Given the description of an element on the screen output the (x, y) to click on. 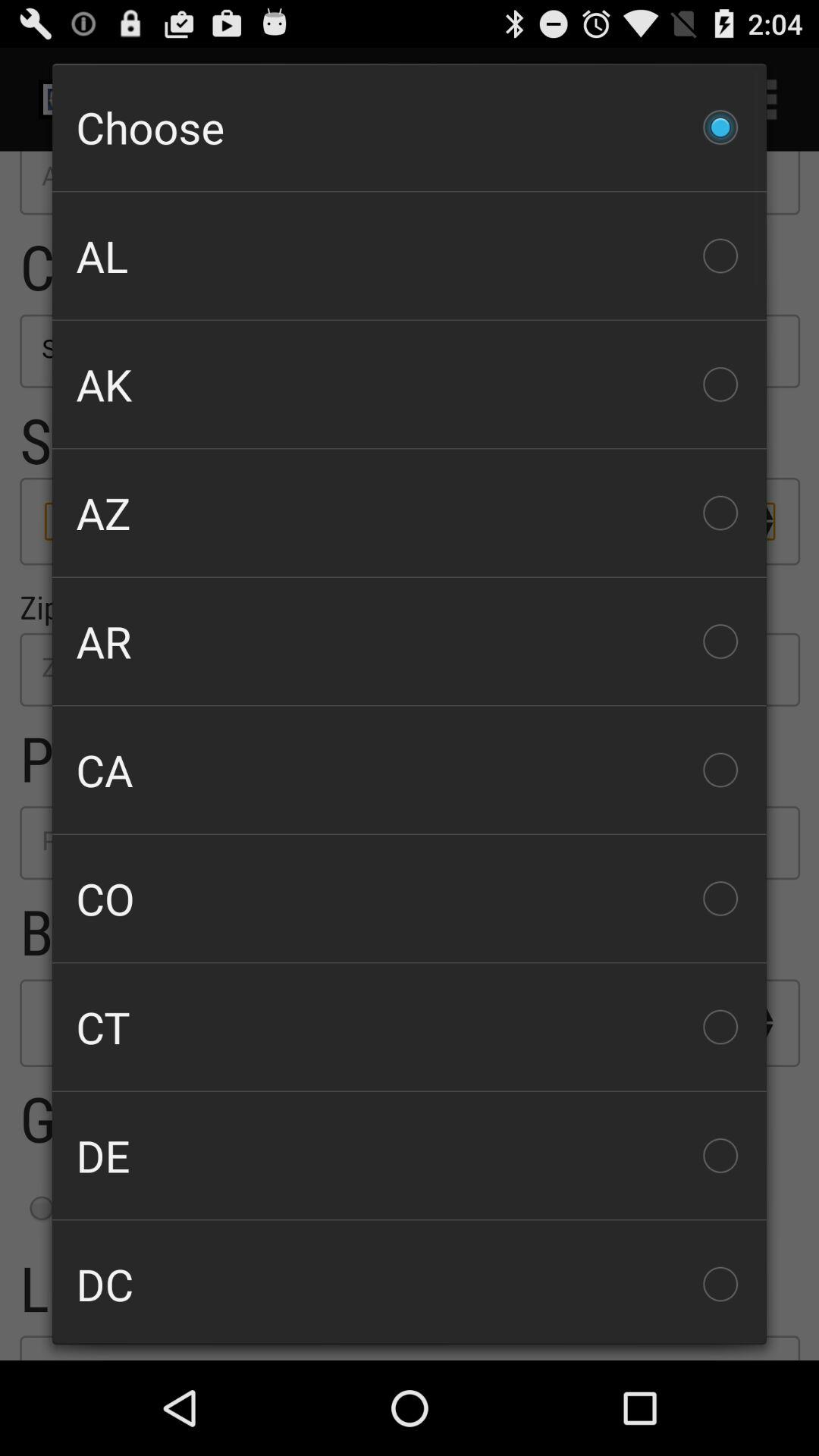
turn on the checkbox above co icon (409, 769)
